Given the description of an element on the screen output the (x, y) to click on. 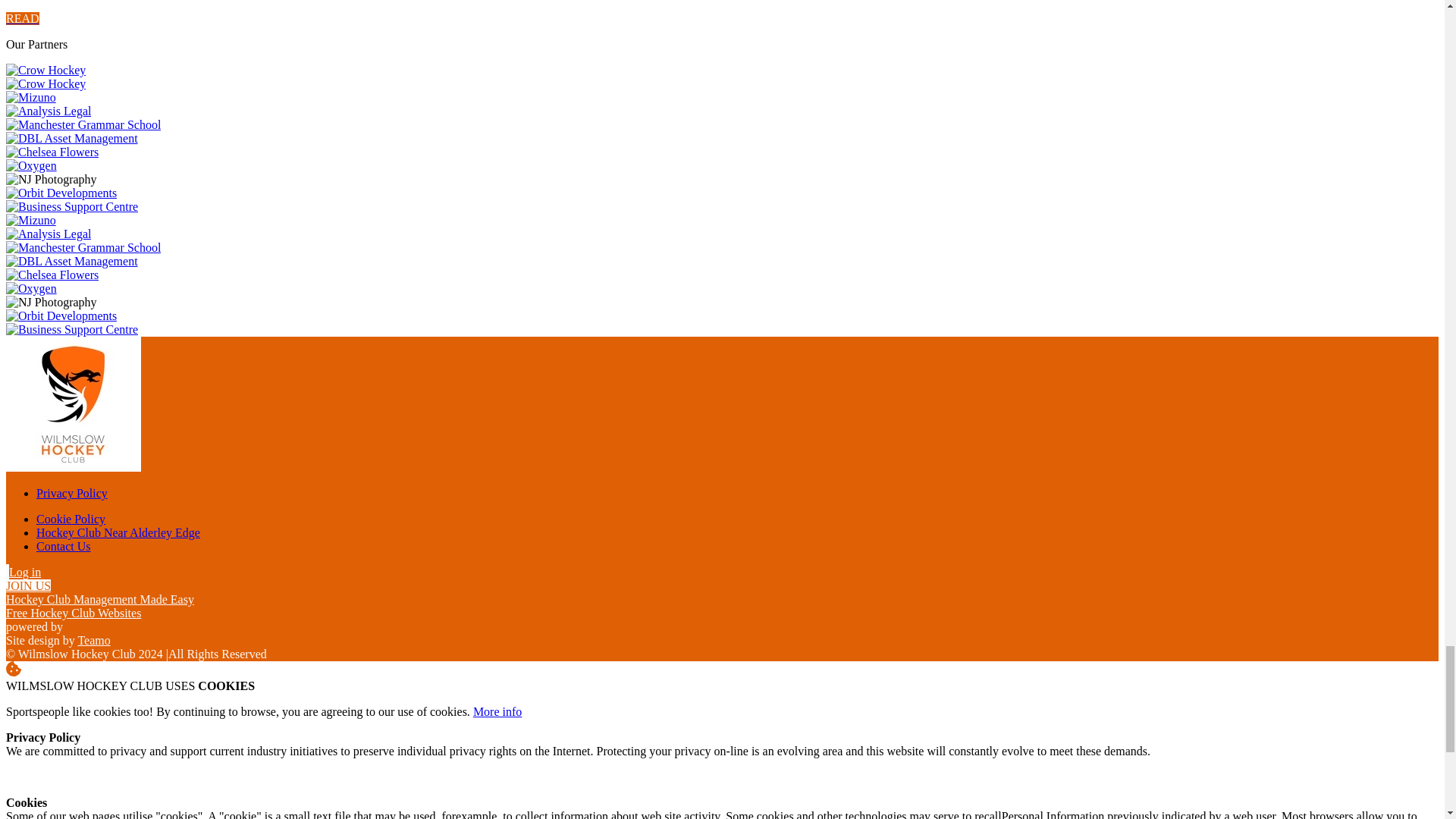
Analysis Legal (47, 233)
Oxygen (30, 287)
Chelsea Flowers (52, 274)
Crow Hockey (45, 83)
Analysis Legal (47, 110)
DBL Asset Management (71, 137)
Mizuno (30, 97)
Crow Hockey (45, 69)
Mizuno (30, 219)
Chelsea Flowers (52, 151)
Orbit Developments (60, 192)
DBL Asset Management (71, 260)
Manchester Grammar School (82, 124)
Oxygen (30, 164)
Business Support Centre (71, 205)
